Given the description of an element on the screen output the (x, y) to click on. 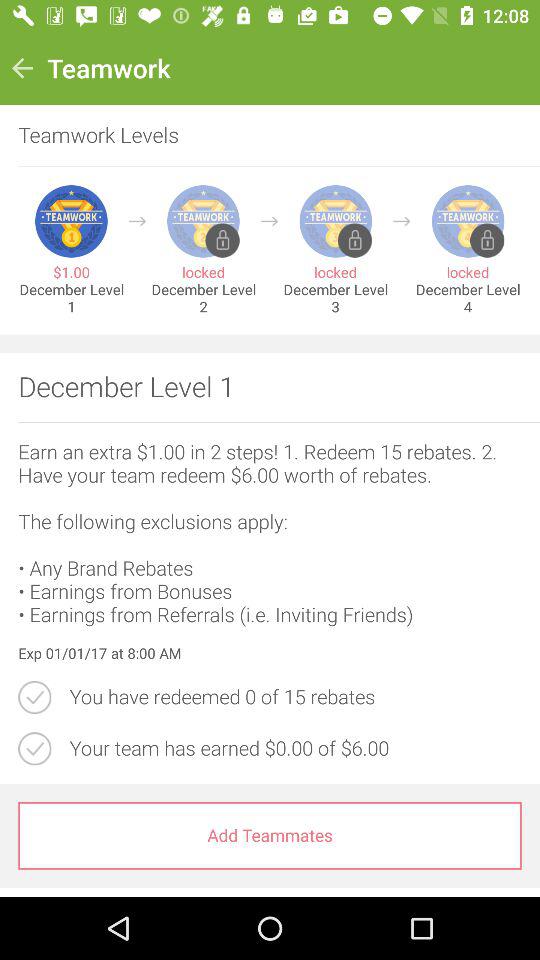
click the item below exp 01 01 icon (295, 697)
